Given the description of an element on the screen output the (x, y) to click on. 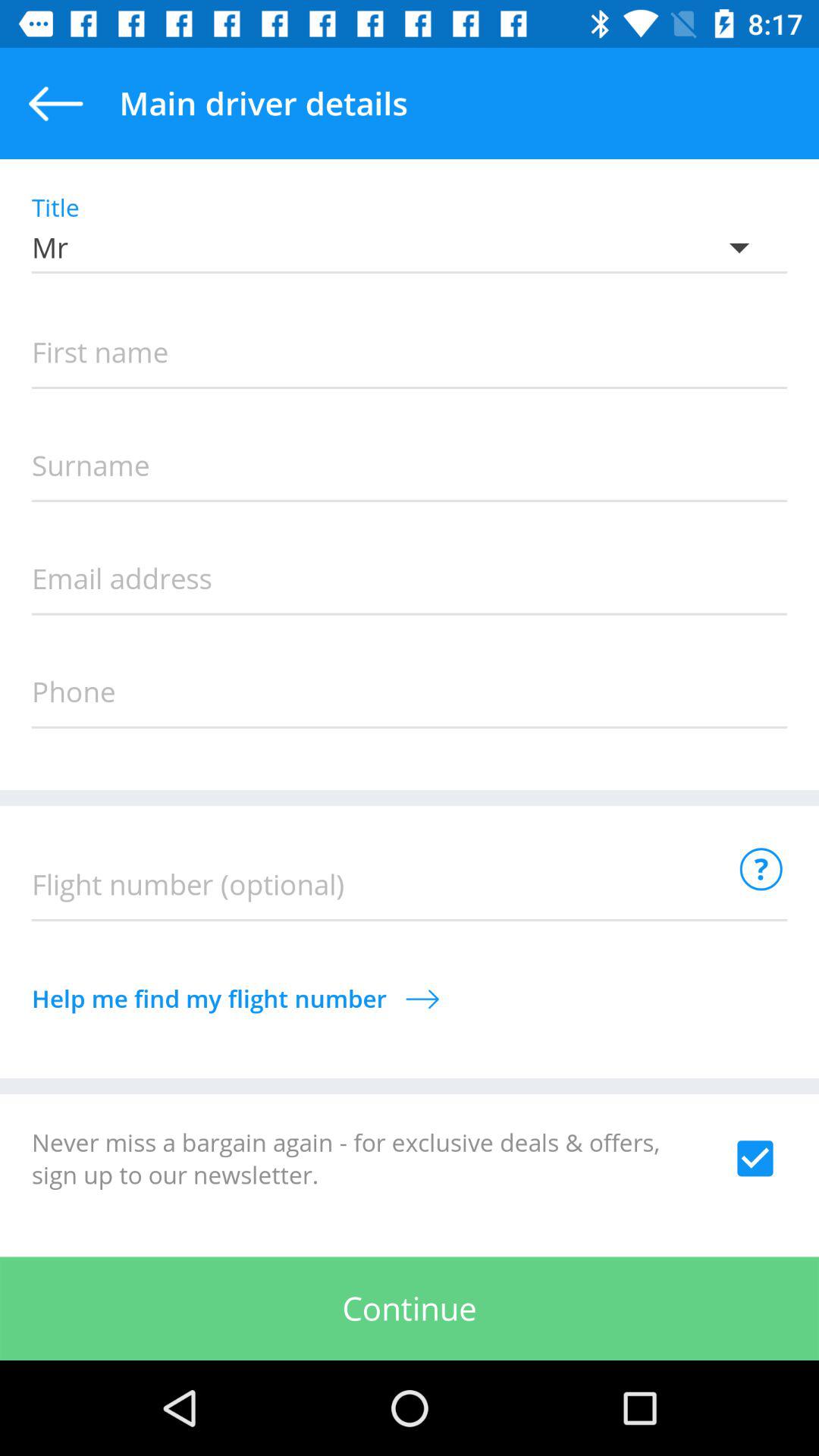
go to click option (755, 1158)
